Given the description of an element on the screen output the (x, y) to click on. 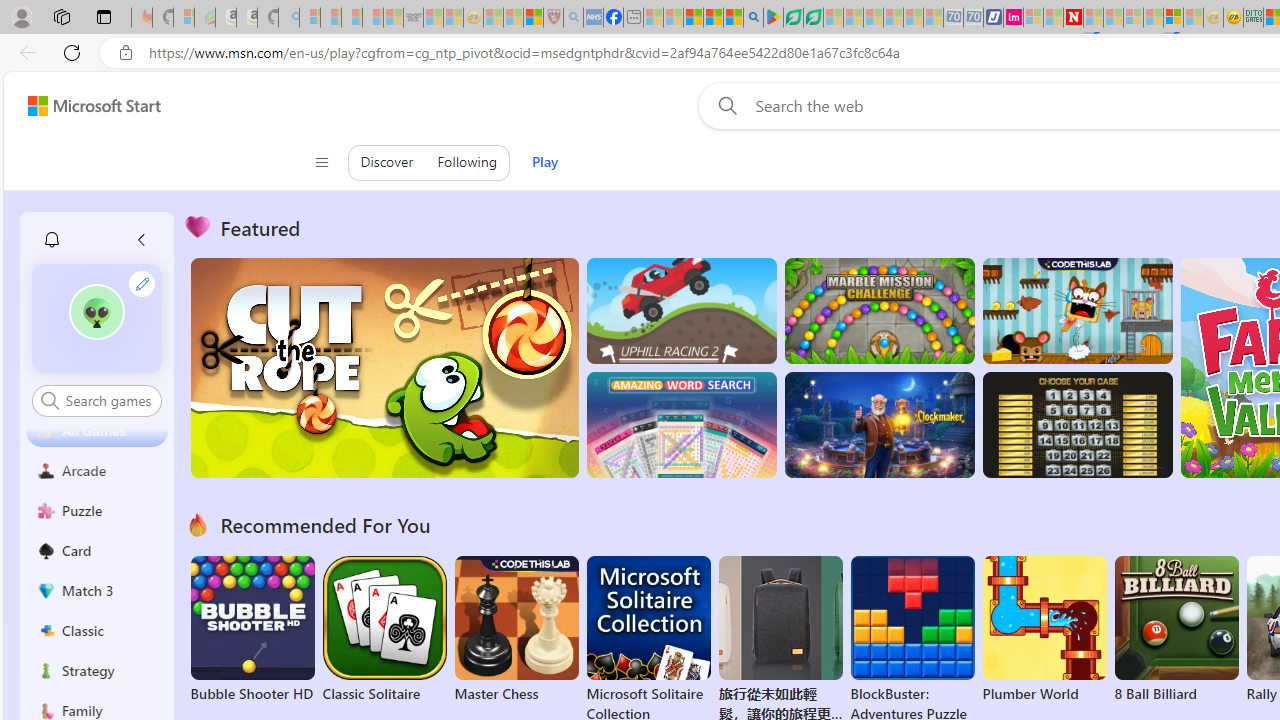
Up Hill Racing 2 (681, 310)
Microsoft Word - consumer-privacy address update 2.2021 (813, 17)
Local - MSN (532, 17)
